Given the description of an element on the screen output the (x, y) to click on. 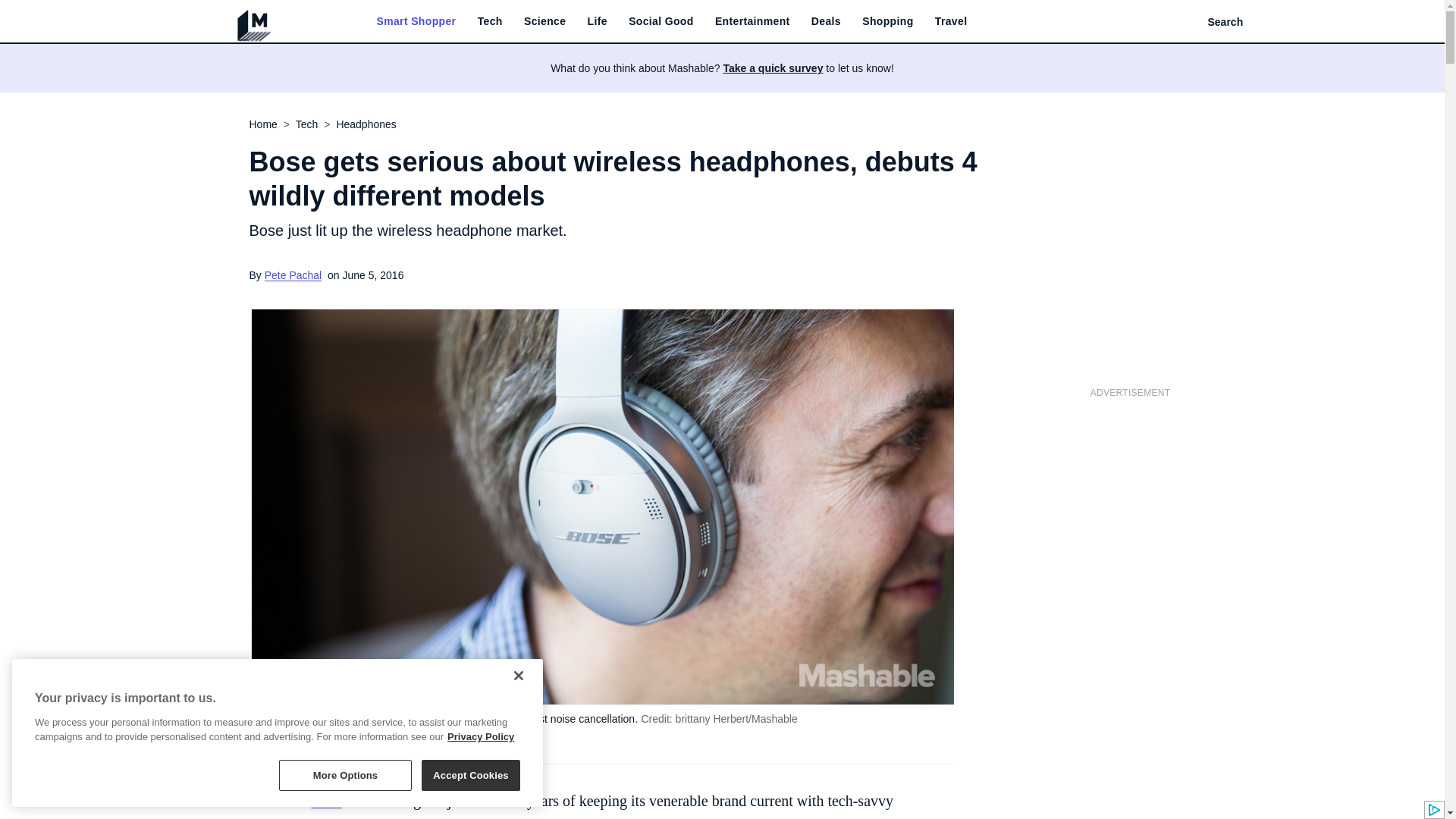
Science (545, 21)
Smart Shopper (415, 21)
Shopping (886, 21)
Deals (825, 21)
Social Good (661, 21)
Life (597, 21)
Entertainment (752, 21)
Tech (489, 21)
Travel (951, 21)
